Given the description of an element on the screen output the (x, y) to click on. 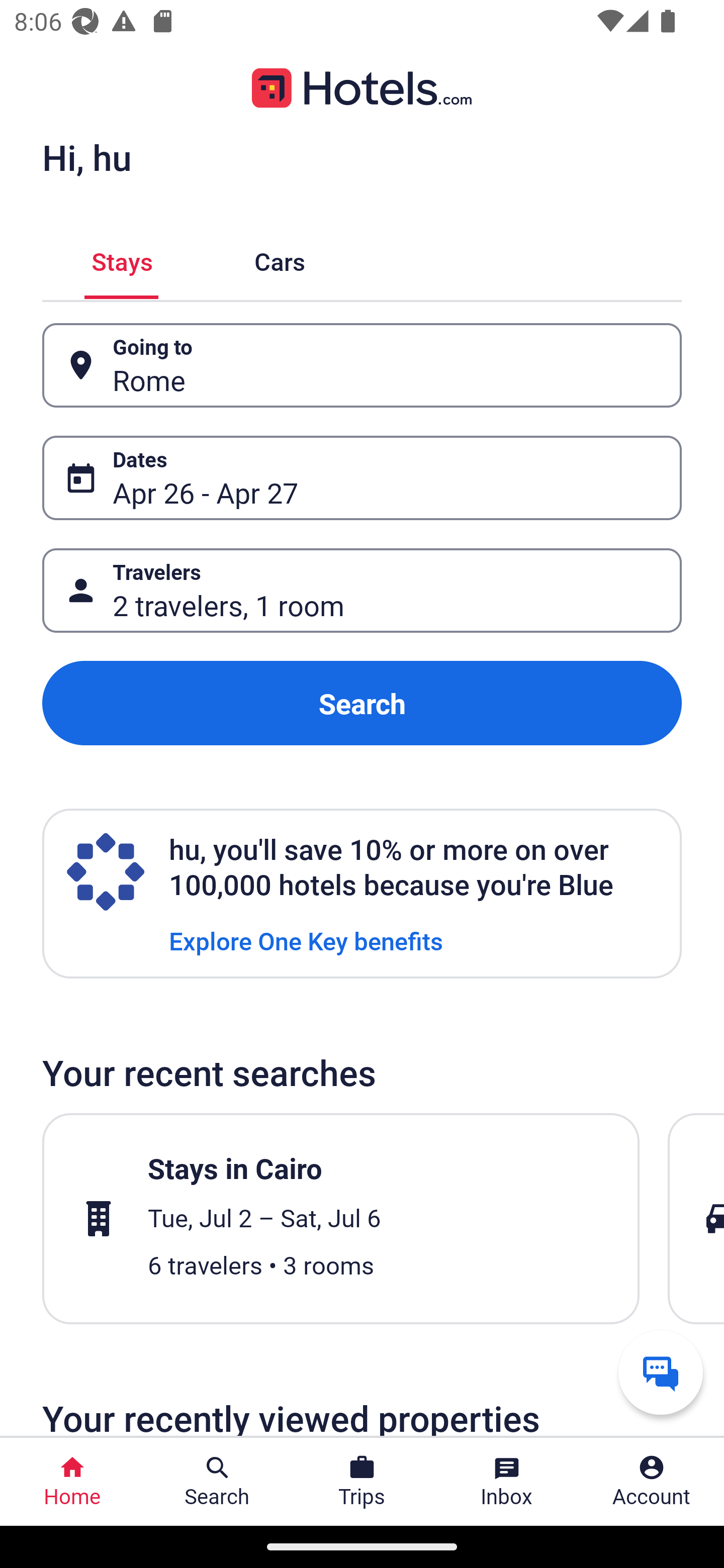
Hi, hu (86, 156)
Cars (279, 259)
Going to Button Rome (361, 365)
Dates Button Apr 26 - Apr 27 (361, 477)
Travelers Button 2 travelers, 1 room (361, 590)
Search (361, 702)
Get help from a virtual agent (660, 1371)
Search Search Button (216, 1481)
Trips Trips Button (361, 1481)
Inbox Inbox Button (506, 1481)
Account Profile. Button (651, 1481)
